Given the description of an element on the screen output the (x, y) to click on. 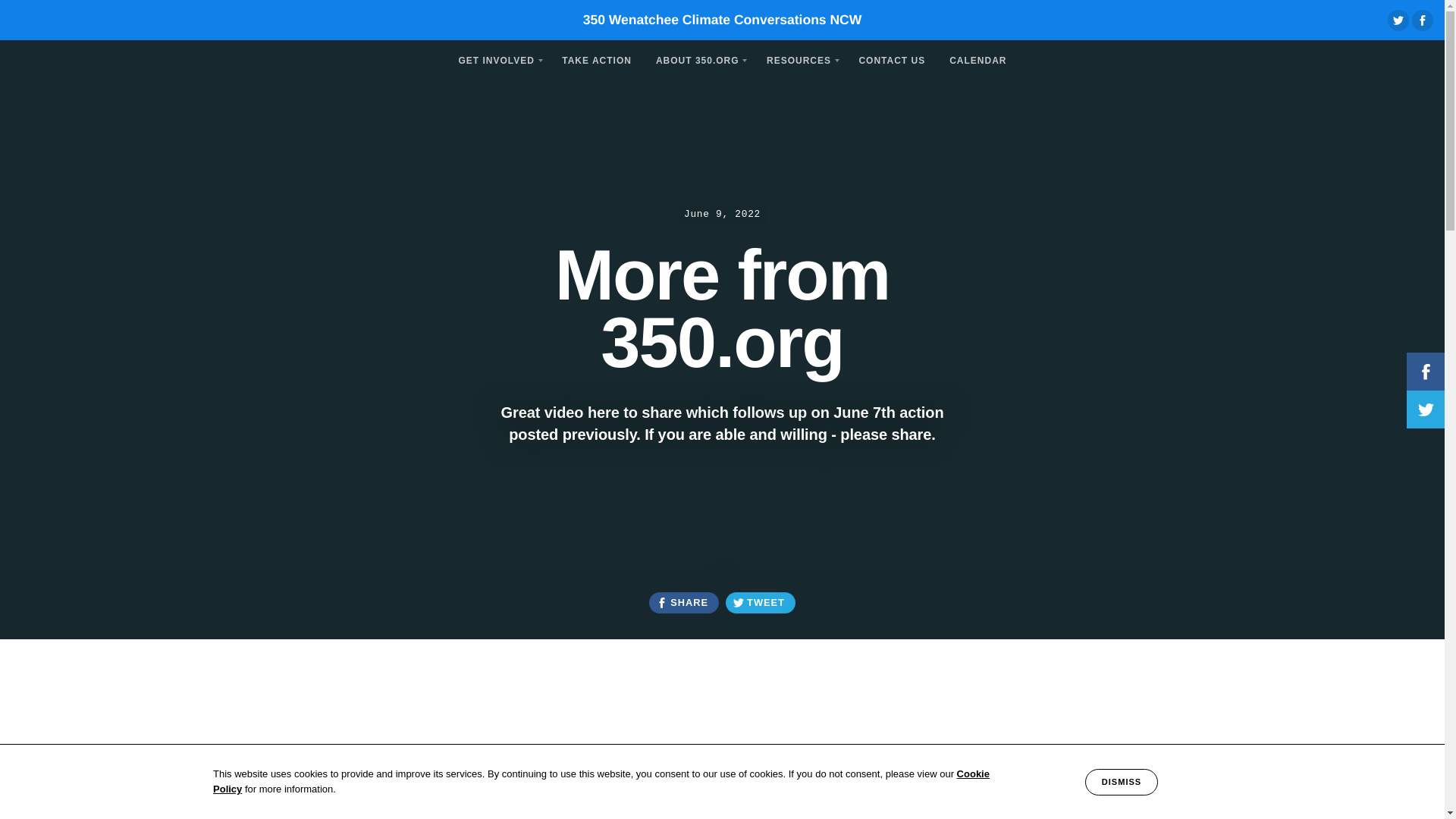
ABOUT 350.ORG (698, 60)
Cookie Policy (601, 781)
TAKE ACTION (596, 60)
CONTACT US (891, 60)
Facebook (1422, 20)
DISMISS (1120, 782)
RESOURCES (799, 60)
Twitter (1398, 20)
SHARE (683, 602)
CALENDAR (977, 60)
GET INVOLVED (497, 60)
350 Wenatchee Climate Conversations NCW (722, 20)
TWEET (759, 602)
